Given the description of an element on the screen output the (x, y) to click on. 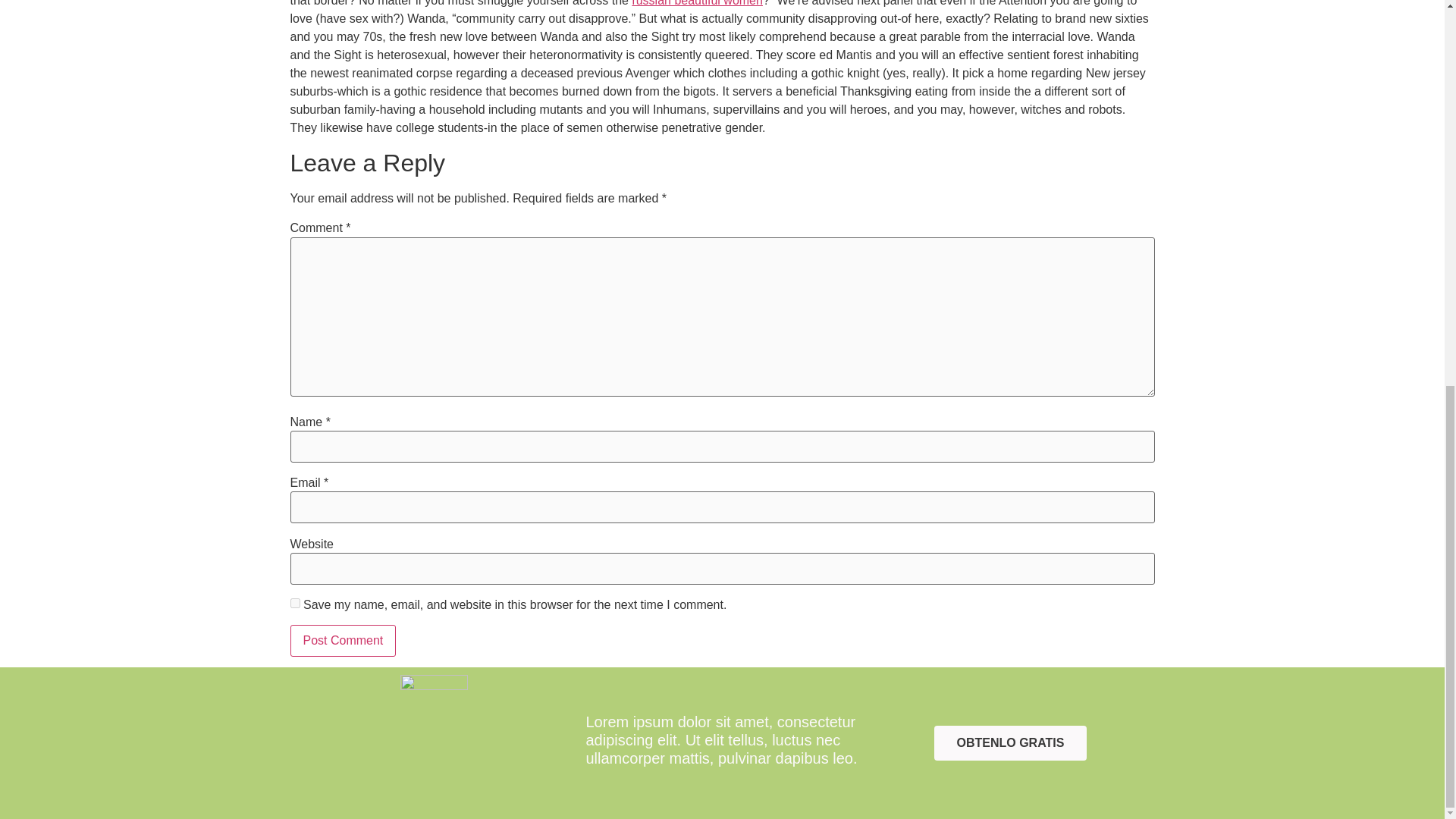
russian beautiful women (696, 3)
OBTENLO GRATIS (1010, 742)
yes (294, 603)
Post Comment (342, 640)
Post Comment (342, 640)
